Given the description of an element on the screen output the (x, y) to click on. 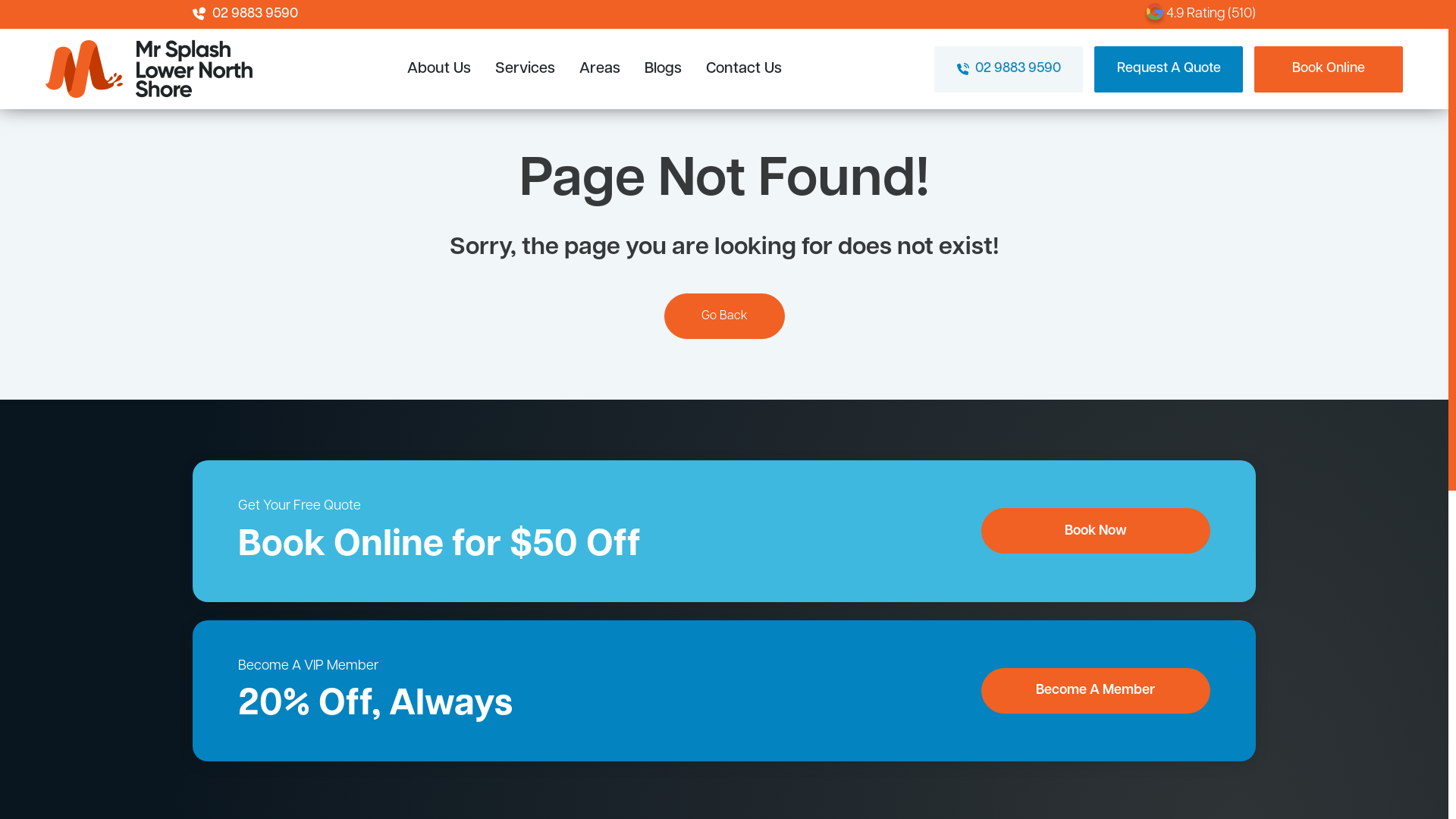
Go Back Element type: text (724, 315)
02 9883 9590 Element type: text (245, 13)
Request A Quote Element type: text (1168, 68)
Book Now Element type: text (1096, 530)
About Us Element type: text (438, 68)
Contact Us Element type: text (743, 68)
Book Online Element type: text (1328, 68)
02 9883 9590 Element type: text (1008, 68)
Services Element type: text (524, 68)
Areas Element type: text (599, 68)
Become A Member Element type: text (1096, 690)
Blogs Element type: text (662, 68)
